Given the description of an element on the screen output the (x, y) to click on. 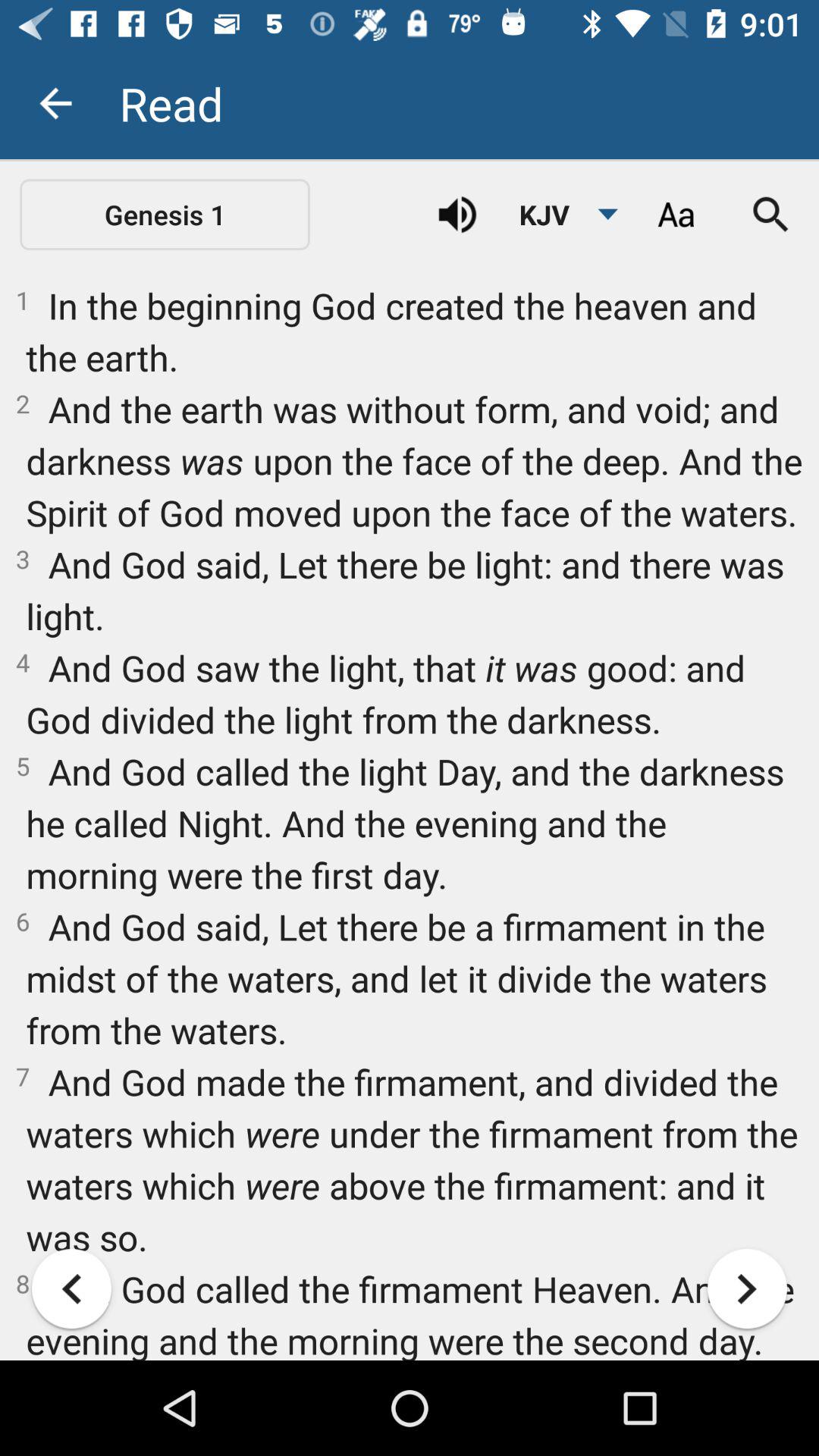
volume button (457, 214)
